Given the description of an element on the screen output the (x, y) to click on. 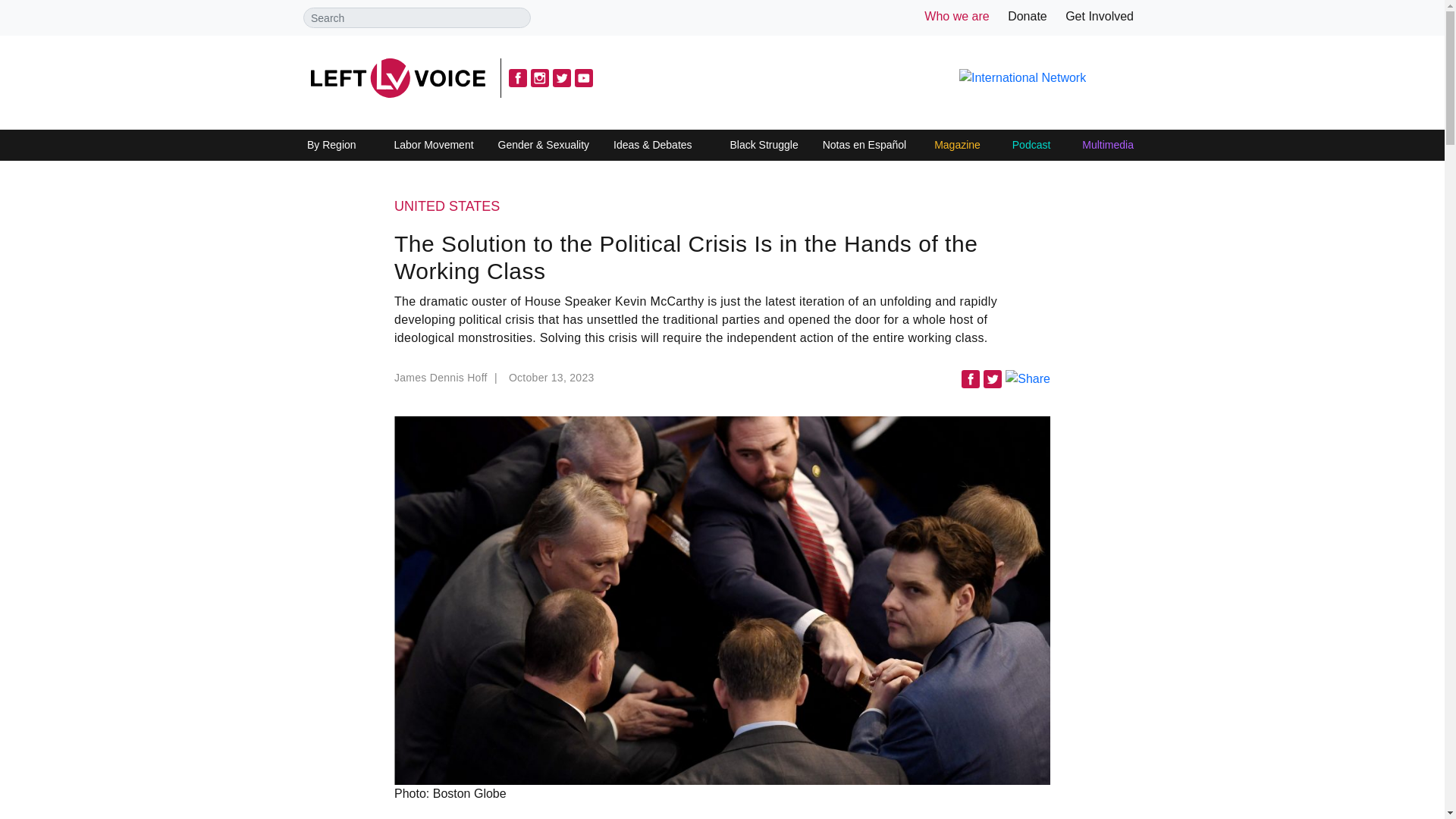
Who we are (956, 15)
UNITED STATES (721, 207)
Left Voice (397, 77)
Black Struggle (763, 145)
Get Involved (1099, 15)
James Dennis Hoff (447, 381)
Labor Movement (433, 145)
Podcast (1031, 145)
International Network (1022, 77)
Magazine (957, 145)
